Given the description of an element on the screen output the (x, y) to click on. 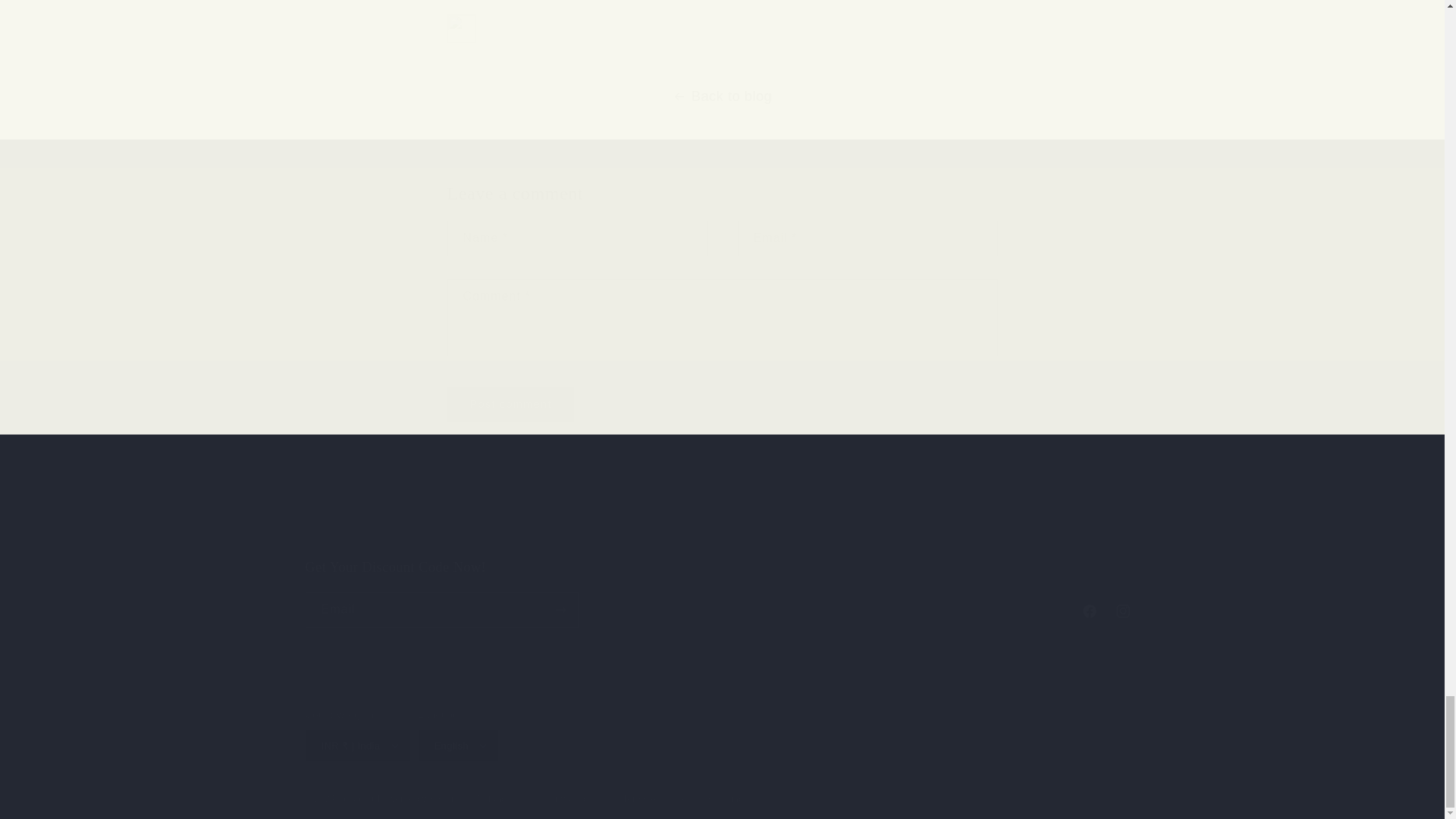
Contact Us (721, 592)
Privacy Policy (511, 539)
Post comment (592, 537)
Post comment (510, 404)
Shipping Policy (510, 404)
